Given the description of an element on the screen output the (x, y) to click on. 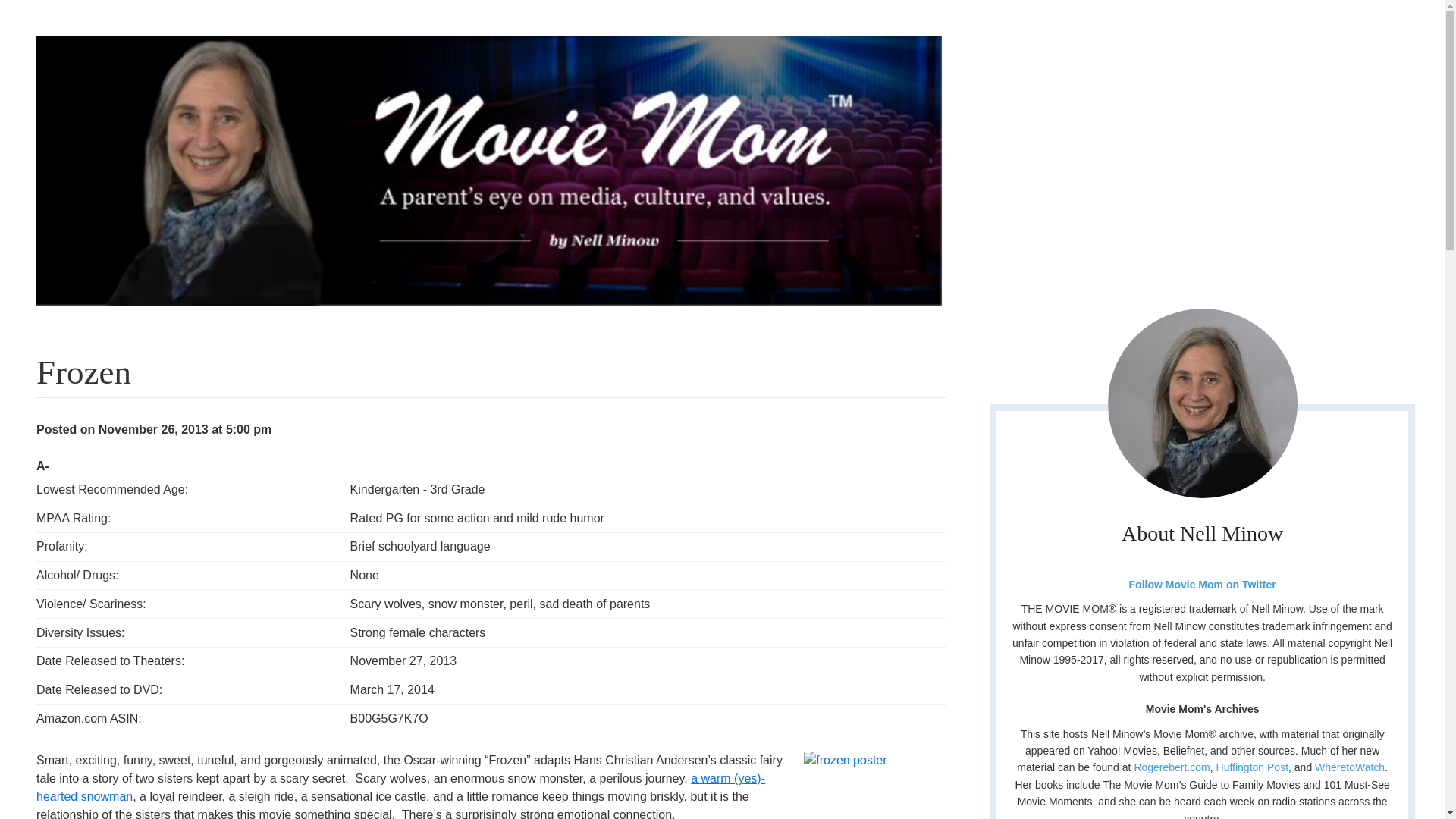
Follow Movie Mom on Twitter (1201, 584)
WheretoWatch (1349, 767)
Huffington Post (1251, 767)
Rogerebert.com (1171, 767)
